Given the description of an element on the screen output the (x, y) to click on. 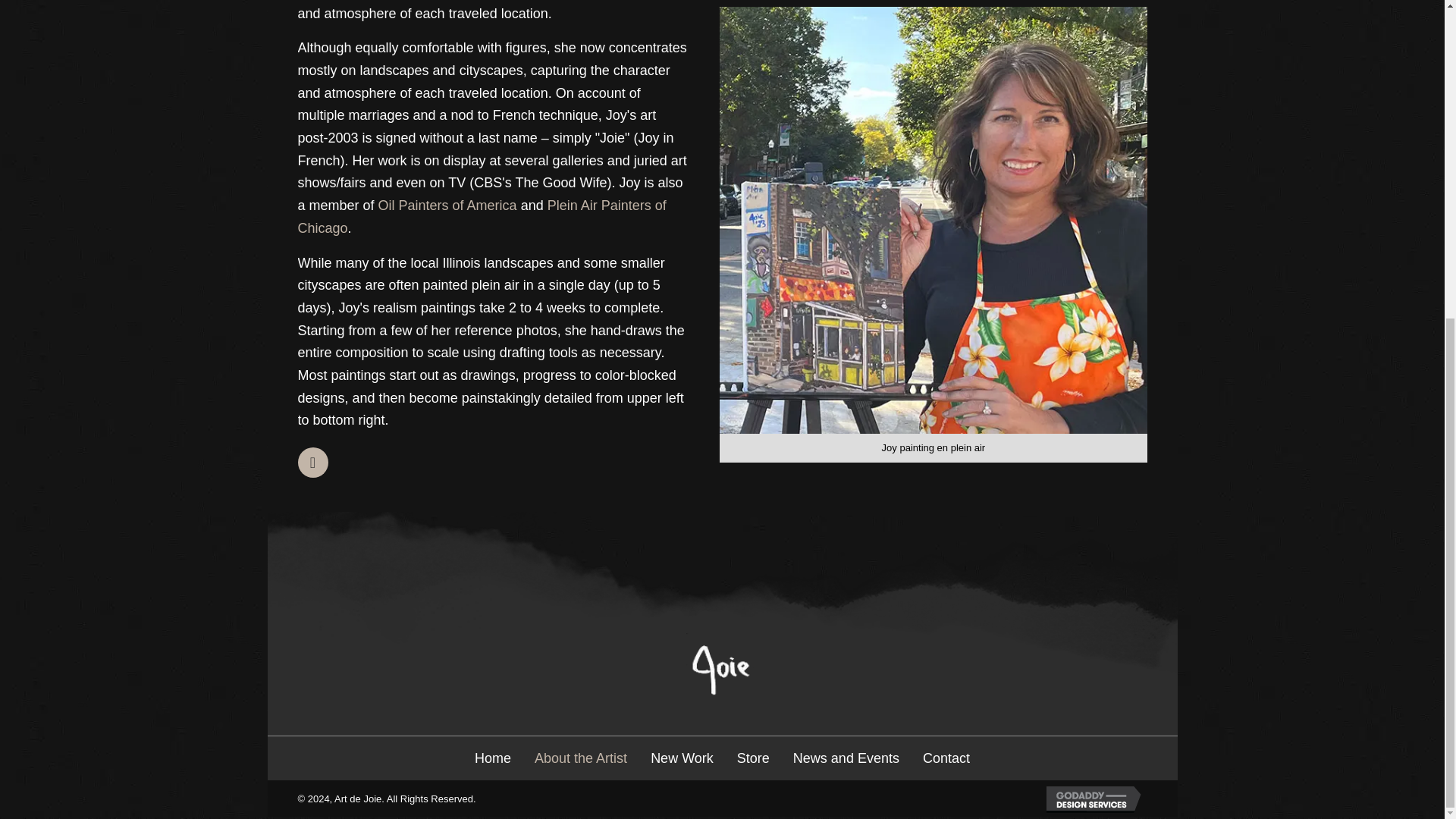
Joie Logo (721, 669)
Instagram (312, 462)
Plein Air Painters of Chicago (481, 216)
Oil Painters of America (447, 205)
